Given the description of an element on the screen output the (x, y) to click on. 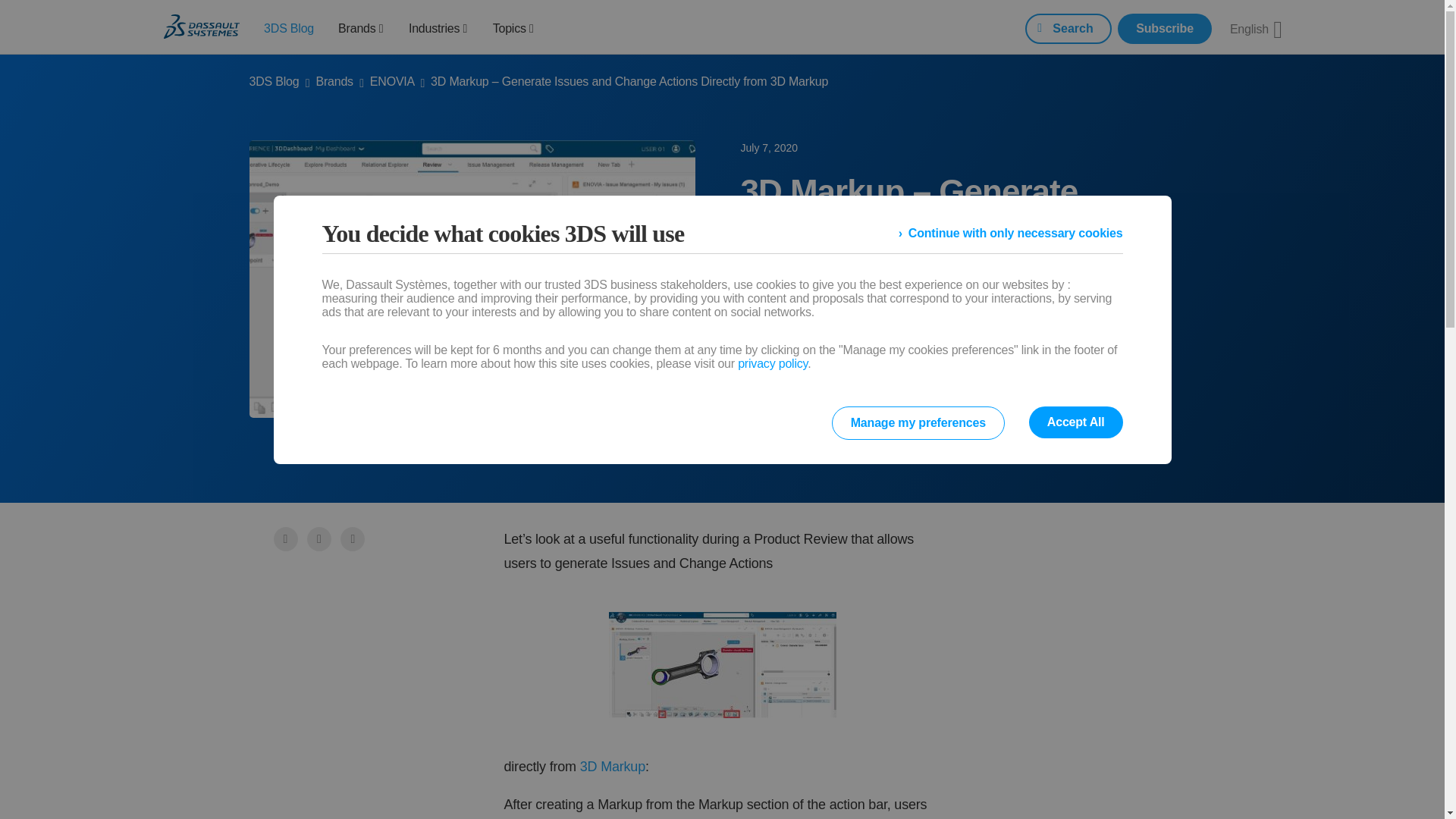
Share on Linkedin (354, 539)
Continue with only necessary cookies (1010, 233)
Subscribe (1164, 28)
Topics (513, 27)
Industries (438, 27)
Accept All (1075, 422)
Share on Facebook (285, 537)
Share on Twitter (320, 539)
Manage my preferences (917, 422)
Brands (360, 27)
3DS Blog (288, 27)
